Given the description of an element on the screen output the (x, y) to click on. 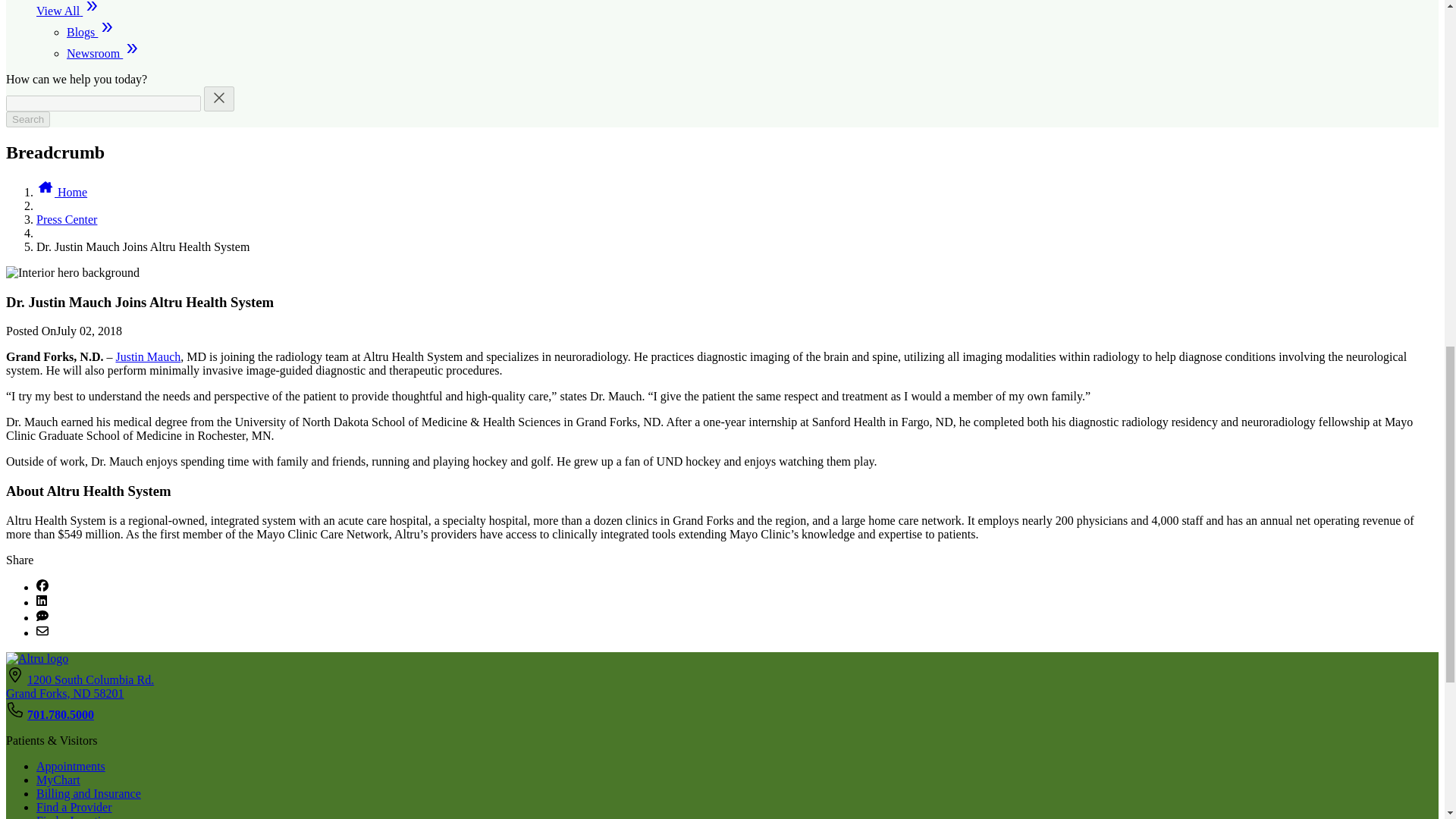
View All (68, 10)
Email (42, 632)
Search (27, 119)
Facebook (42, 586)
Newsroom (103, 52)
Linkedin (41, 602)
Blogs (91, 31)
